Given the description of an element on the screen output the (x, y) to click on. 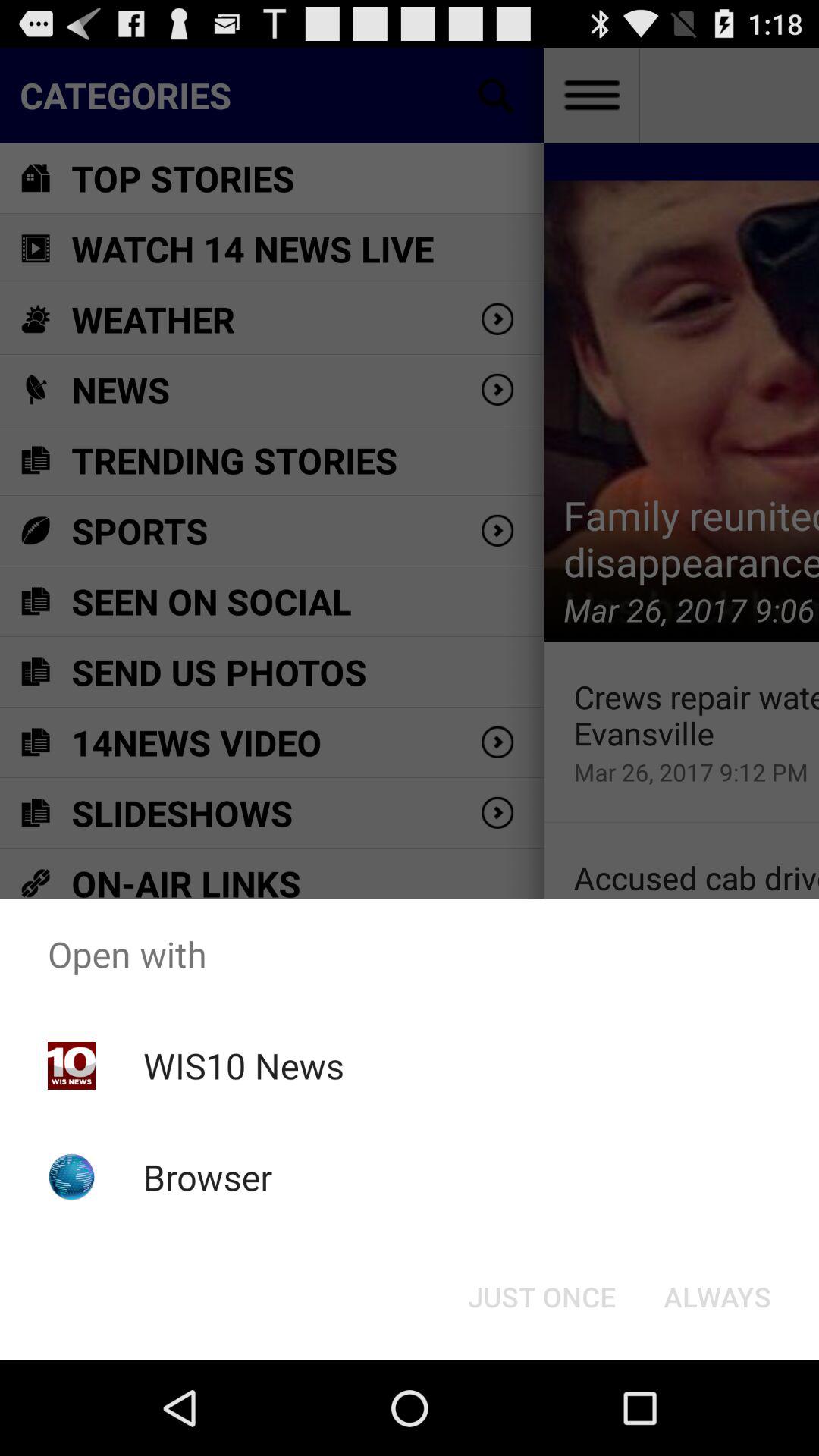
turn on the browser (207, 1176)
